Given the description of an element on the screen output the (x, y) to click on. 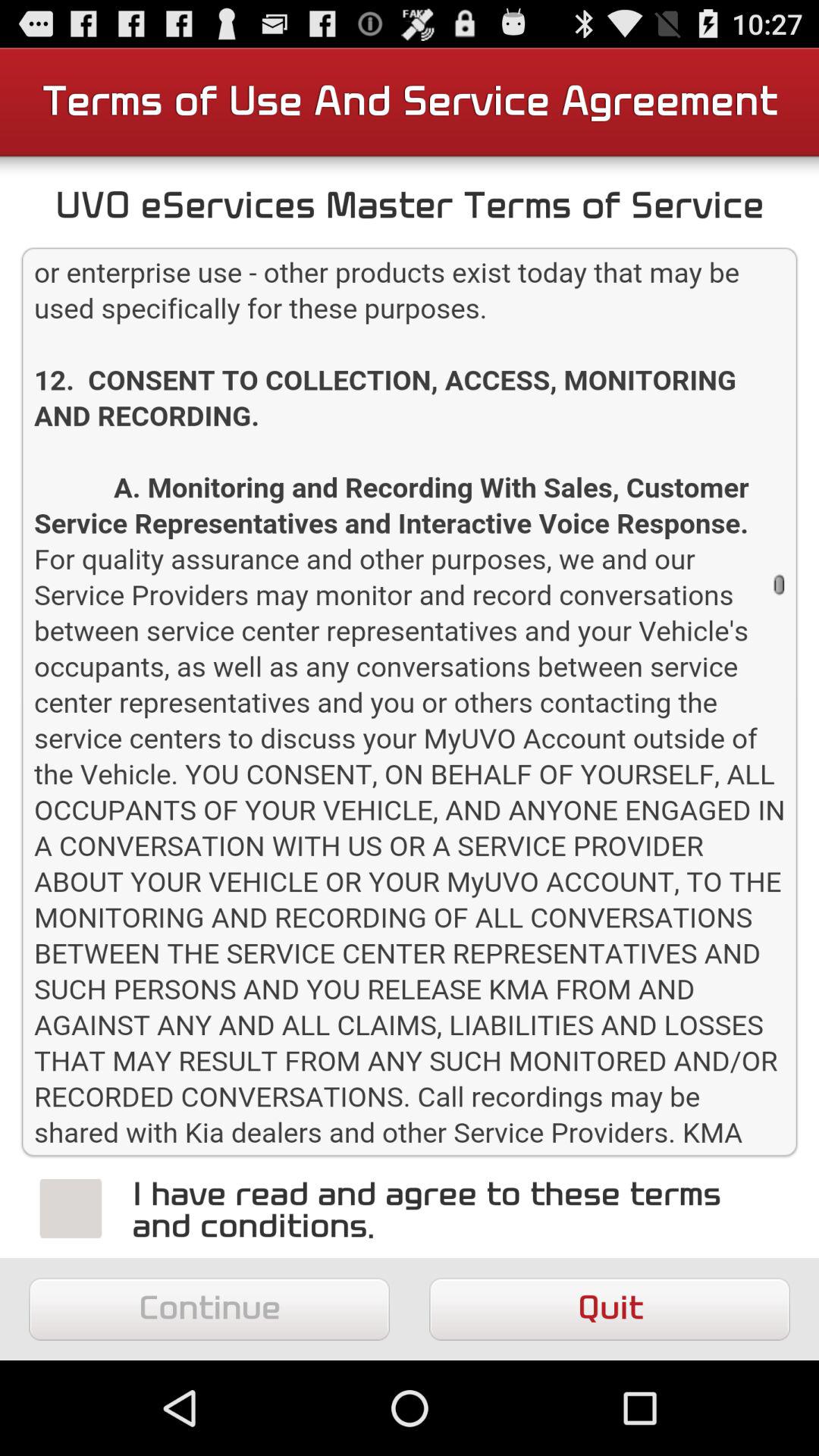
tick box (70, 1208)
